Given the description of an element on the screen output the (x, y) to click on. 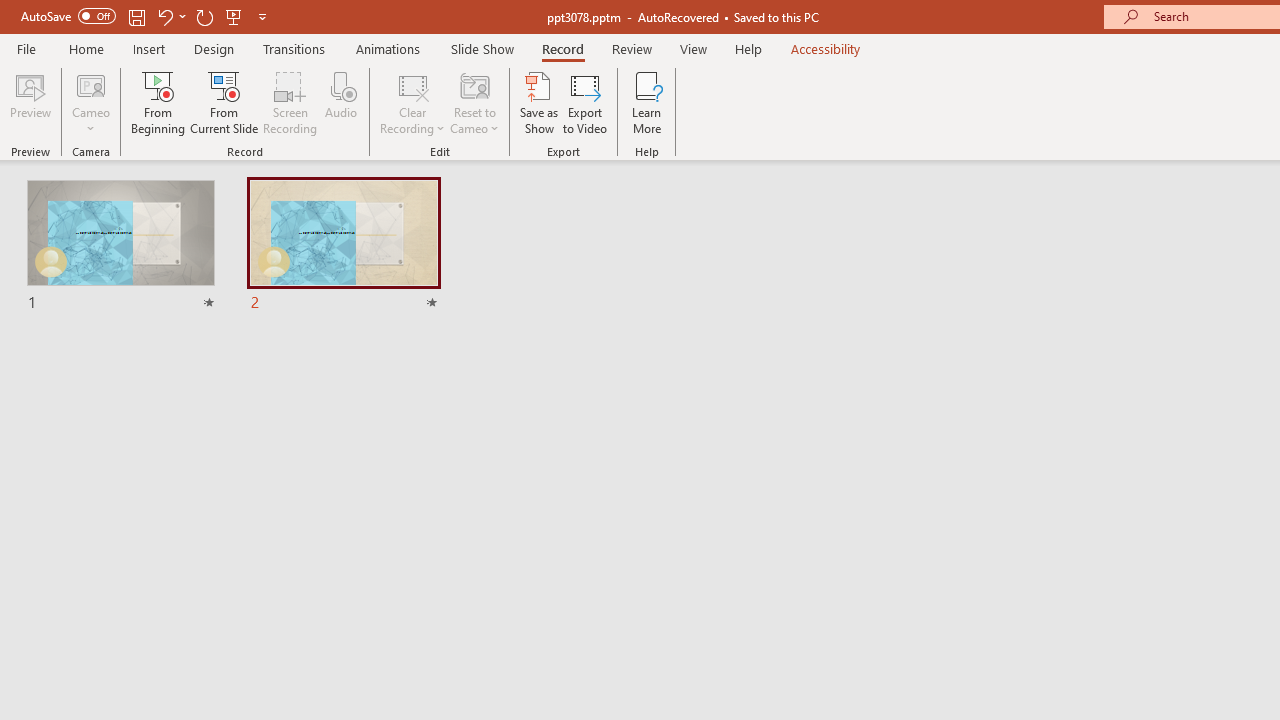
From Beginning... (158, 102)
